Given the description of an element on the screen output the (x, y) to click on. 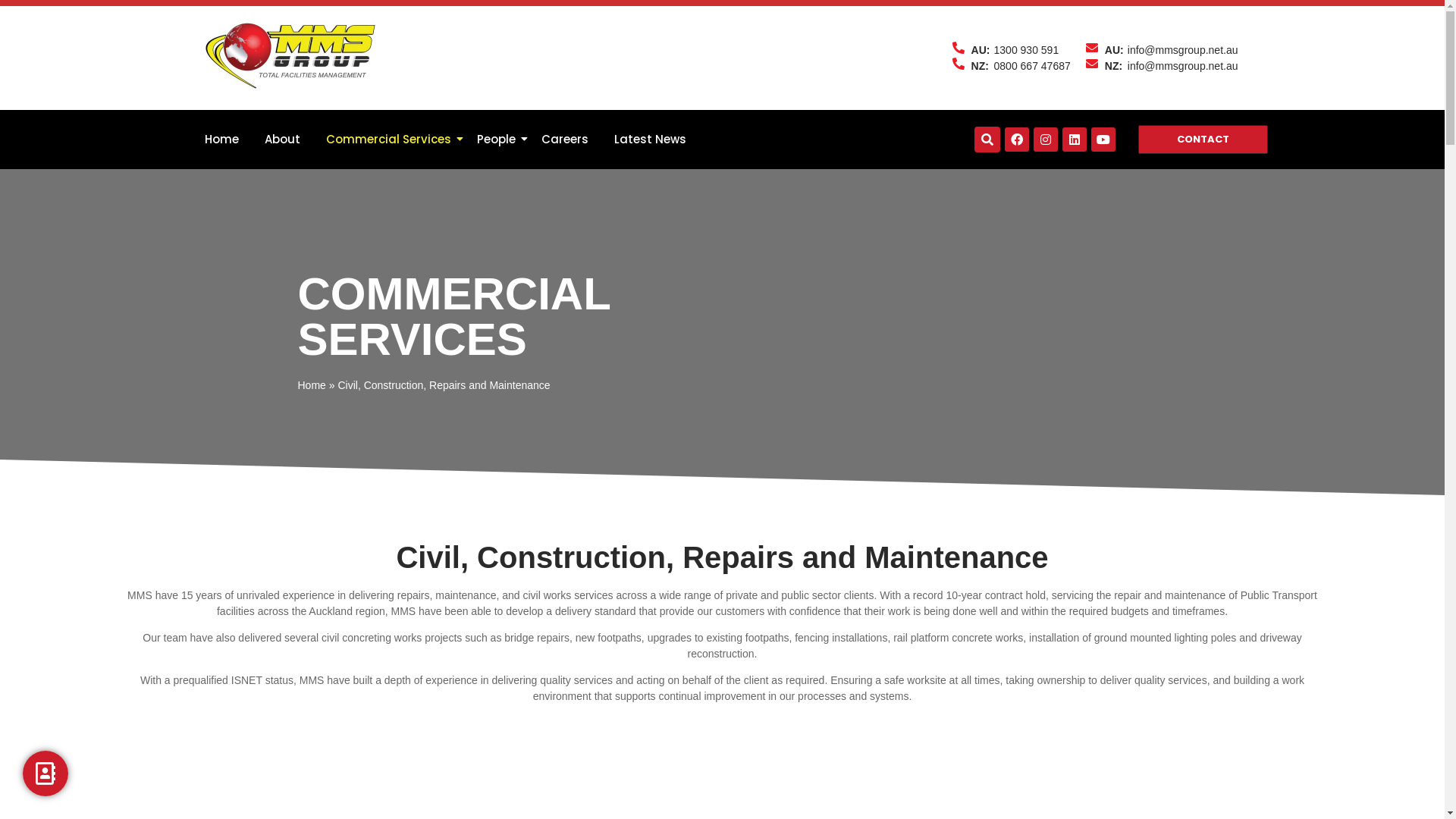
Latest News Element type: text (649, 139)
CONTACT Element type: text (1202, 139)
NZ:info@mmsgroup.net.au Element type: text (1161, 65)
Careers Element type: text (564, 139)
NZ:0800 667 47687 Element type: text (1011, 65)
AU:info@mmsgroup.net.au Element type: text (1161, 50)
AU:1300 930 591 Element type: text (1011, 50)
About Element type: text (282, 139)
SEND Element type: text (128, 710)
Commercial Services Element type: text (387, 139)
Home Element type: text (220, 139)
People Element type: text (495, 139)
Home Element type: text (311, 385)
